Given the description of an element on the screen output the (x, y) to click on. 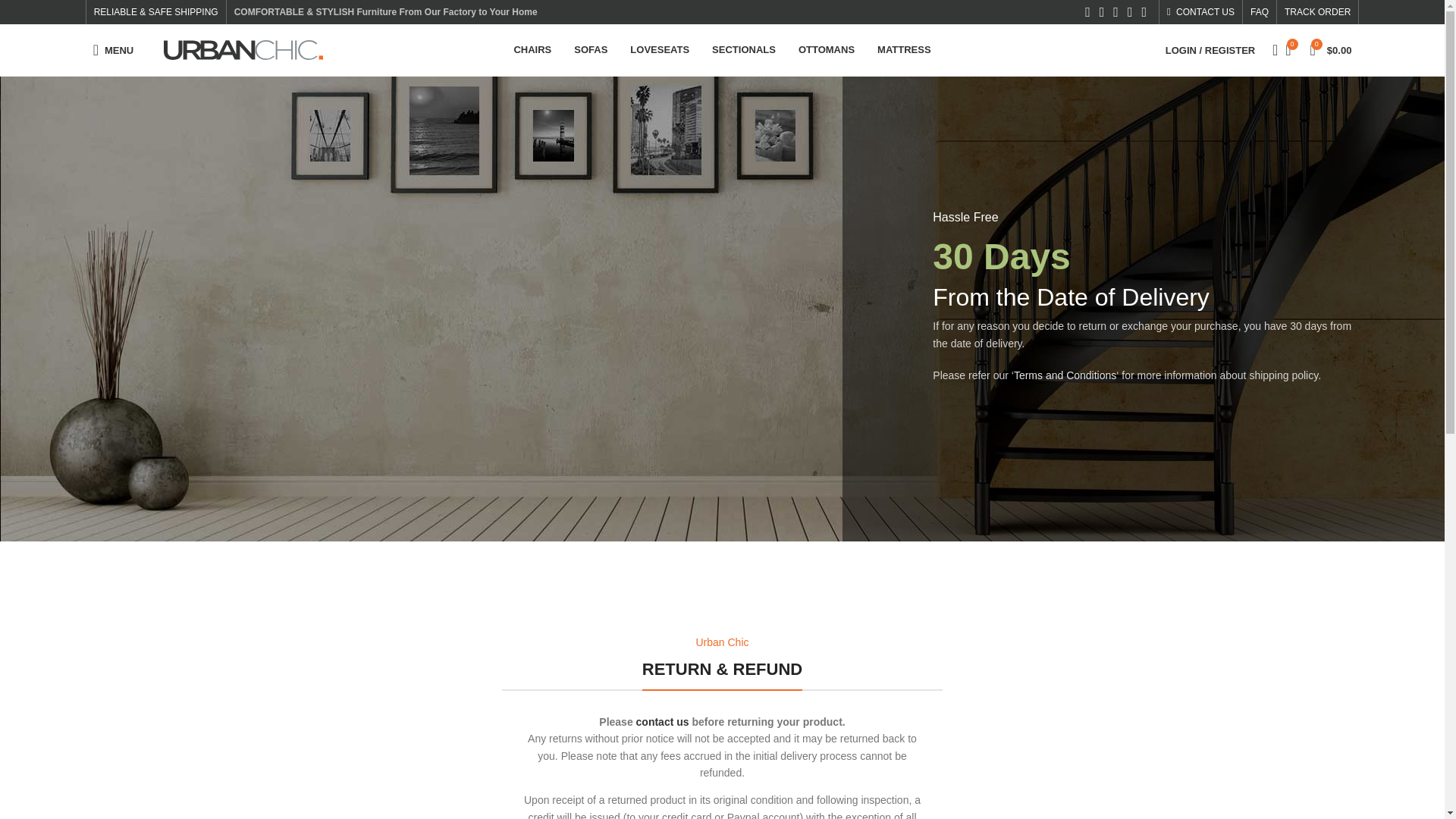
OTTOMANS (825, 50)
TRACK ORDER (1317, 12)
contact us (662, 721)
MENU (113, 50)
CHAIRS (532, 50)
CONTACT US (1200, 12)
My account (1209, 50)
SOFAS (590, 50)
Shopping cart (1331, 50)
MATTRESS (904, 50)
LOVESEATS (659, 50)
Terms and Conditions (1064, 375)
SECTIONALS (743, 50)
